Given the description of an element on the screen output the (x, y) to click on. 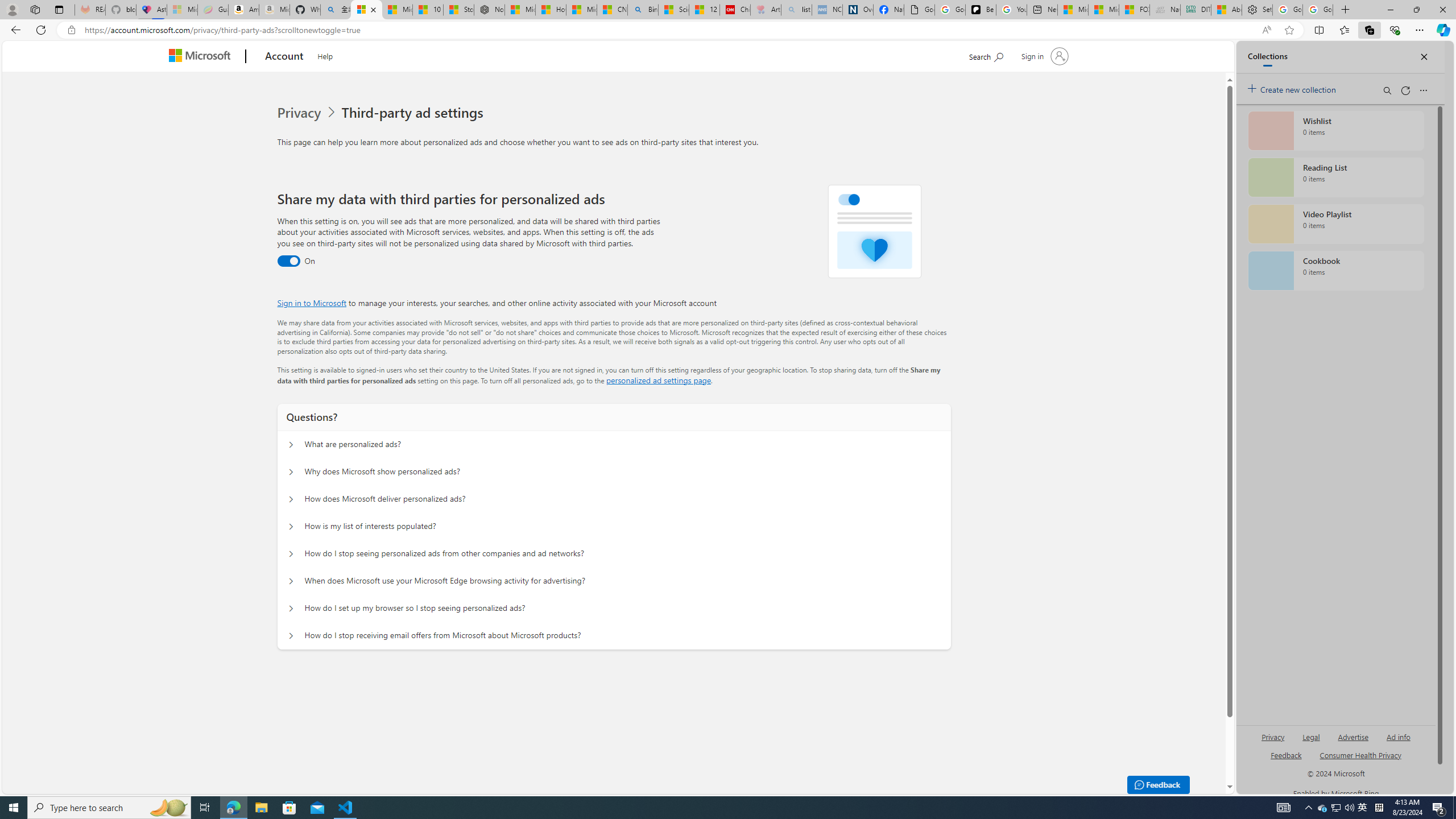
Sign in to your account (1043, 55)
DITOGAMES AG Imprint (1194, 9)
Back (13, 29)
Privacy (307, 112)
Microsoft-Report a Concern to Bing - Sleeping (181, 9)
Questions? Why does Microsoft show personalized ads? (290, 472)
App bar (728, 29)
